Given the description of an element on the screen output the (x, y) to click on. 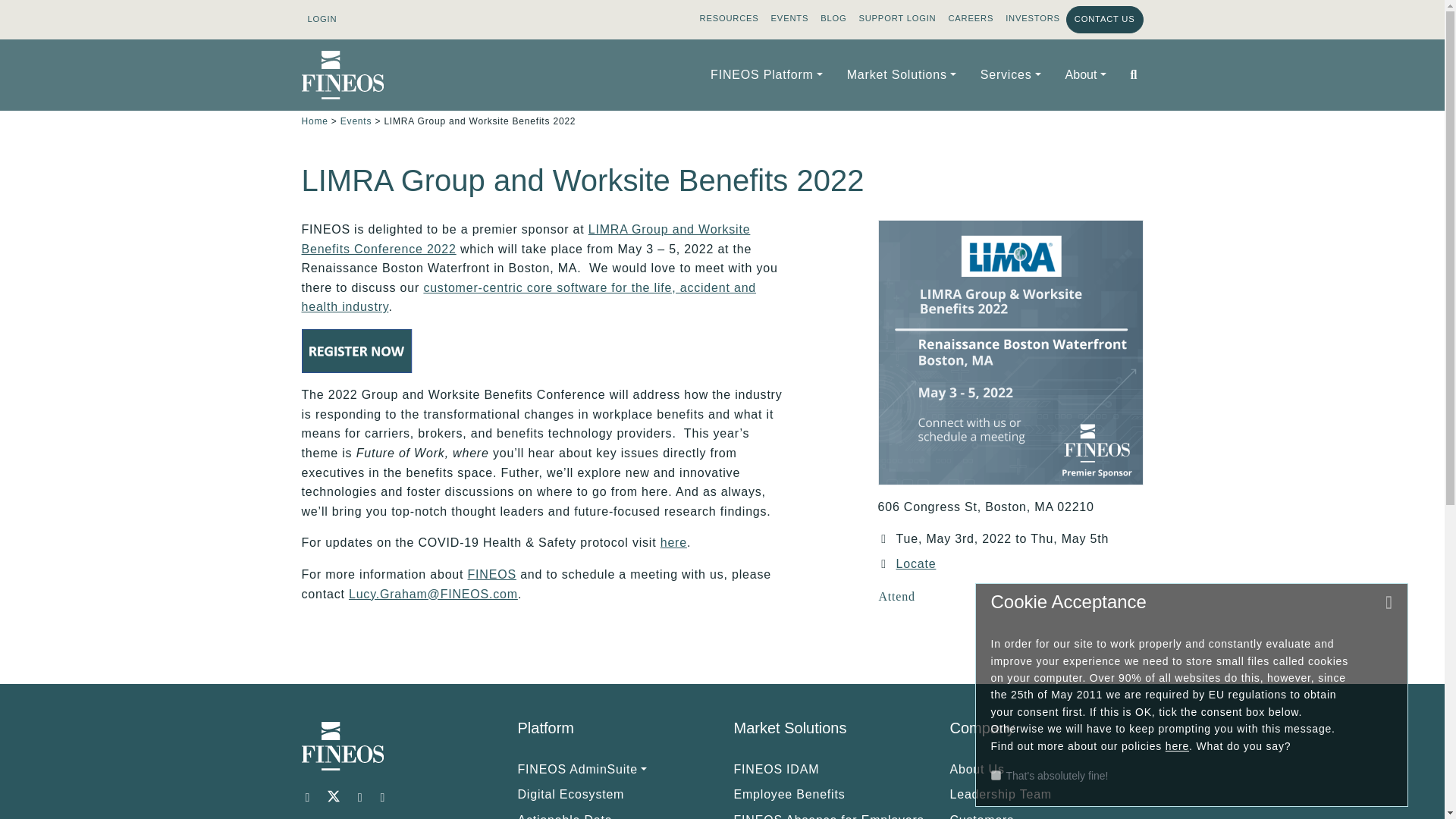
CAREERS (970, 18)
LOGIN (322, 19)
Careers (970, 18)
BLOG (832, 18)
Login (322, 19)
Contact Us (1103, 19)
FINEOS Home (342, 74)
FINEOS Platform (766, 74)
Events (790, 18)
INVESTORS (1031, 18)
EVENTS (790, 18)
FINEOS Platform (766, 74)
Investors (1031, 18)
Support Login (896, 18)
SUPPORT LOGIN (896, 18)
